Given the description of an element on the screen output the (x, y) to click on. 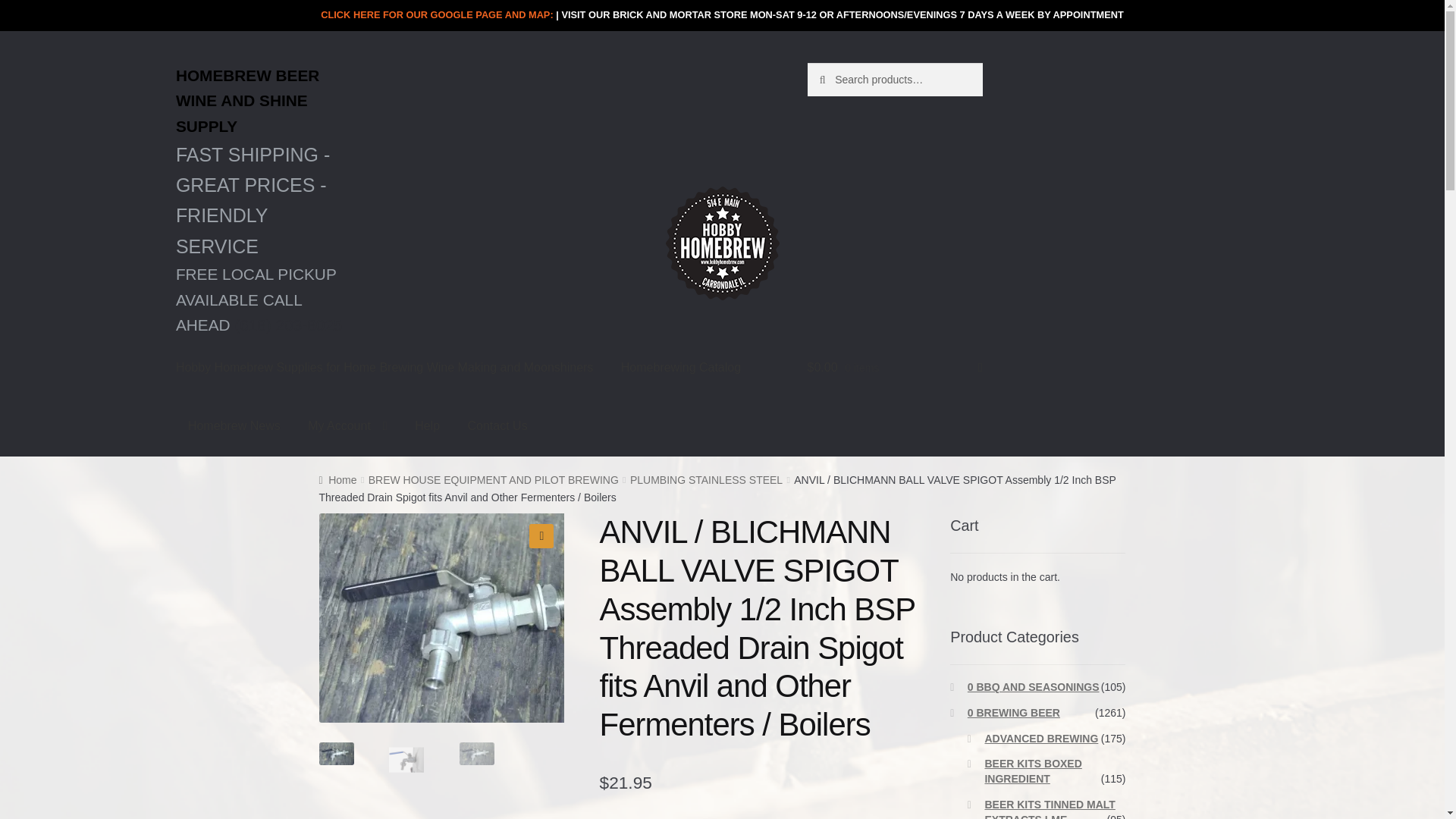
PLUMBING STAINLESS STEEL (706, 480)
View your shopping cart (895, 367)
Homebrewing Catalog (680, 367)
CLICK HERE FOR OUR GOOGLE PAGE AND MAP: (436, 14)
Home (337, 480)
HOMEBREW BEER WINE AND SHINE SUPPLY (263, 101)
RP-027-00 (476, 617)
BREW HOUSE EQUIPMENT AND PILOT BREWING (493, 480)
Homebrew News (234, 425)
Contact Us (496, 425)
Search (840, 78)
My Account (346, 425)
